Given the description of an element on the screen output the (x, y) to click on. 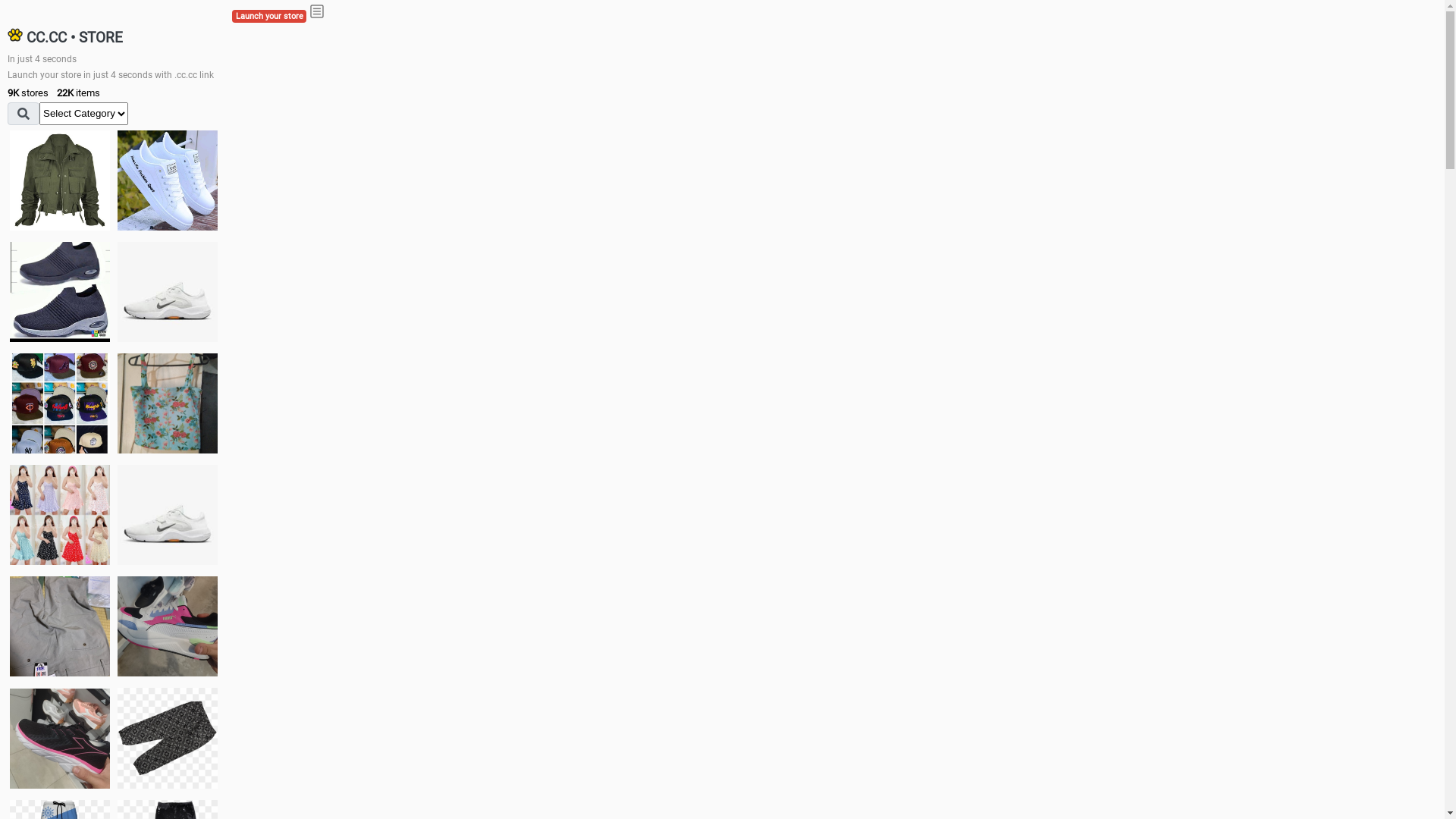
white shoes Element type: hover (167, 180)
Things we need Element type: hover (59, 403)
Shoes Element type: hover (167, 514)
Zapatillas Element type: hover (59, 738)
Ukay cloth Element type: hover (167, 403)
jacket Element type: hover (59, 180)
Launch your store Element type: text (269, 15)
Dress/square nect top Element type: hover (59, 514)
shoes for boys Element type: hover (59, 291)
Shoes for boys Element type: hover (167, 291)
Short pant Element type: hover (167, 737)
Zapatillas pumas Element type: hover (167, 626)
